Given the description of an element on the screen output the (x, y) to click on. 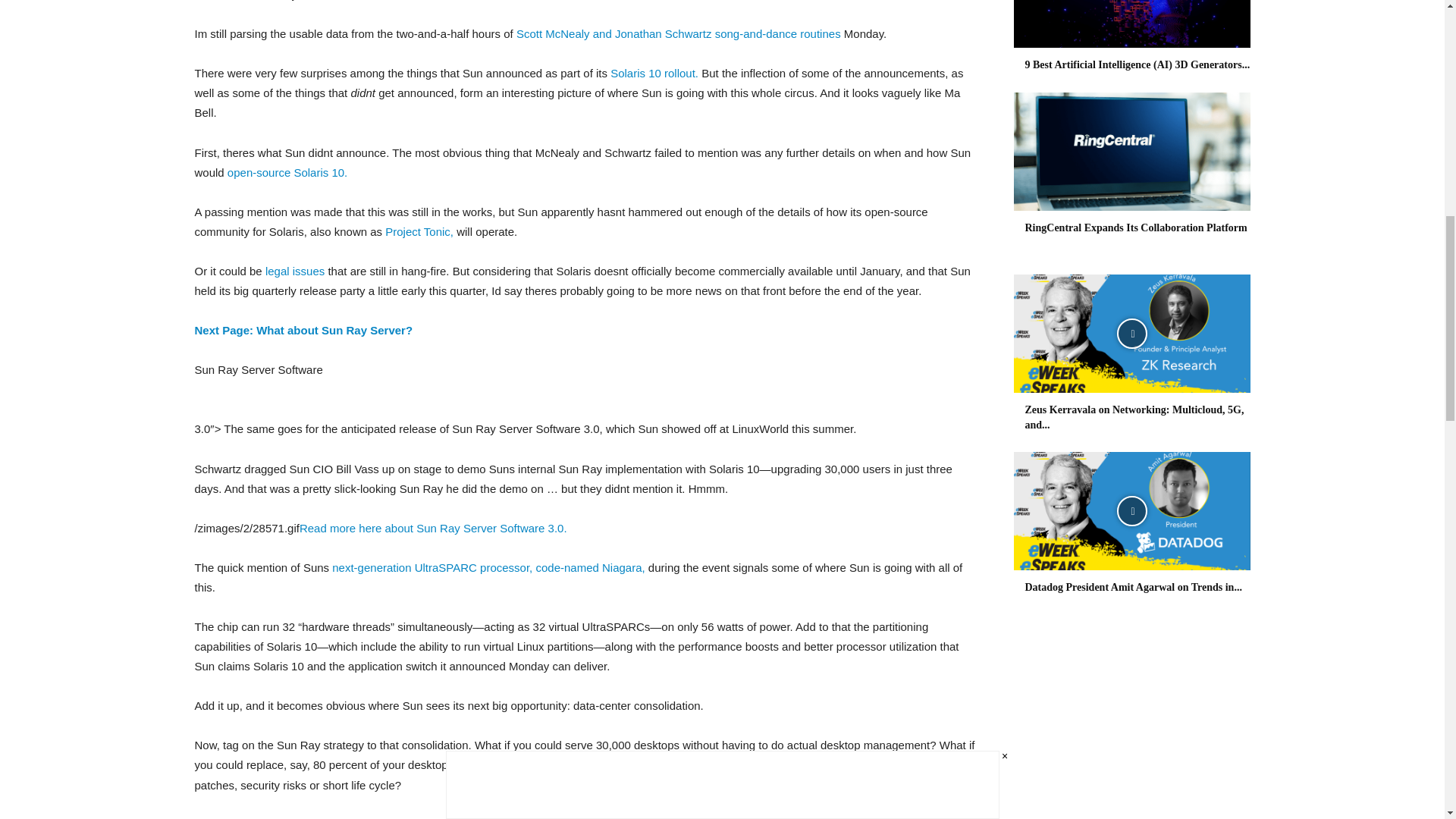
Zeus Kerravala on Networking: Multicloud, 5G, and Automation (1134, 417)
Zeus Kerravala on Networking: Multicloud, 5G, and Automation (1131, 333)
RingCentral Expands Its Collaboration Platform (1131, 151)
RingCentral Expands Its Collaboration Platform (1136, 227)
